Given the description of an element on the screen output the (x, y) to click on. 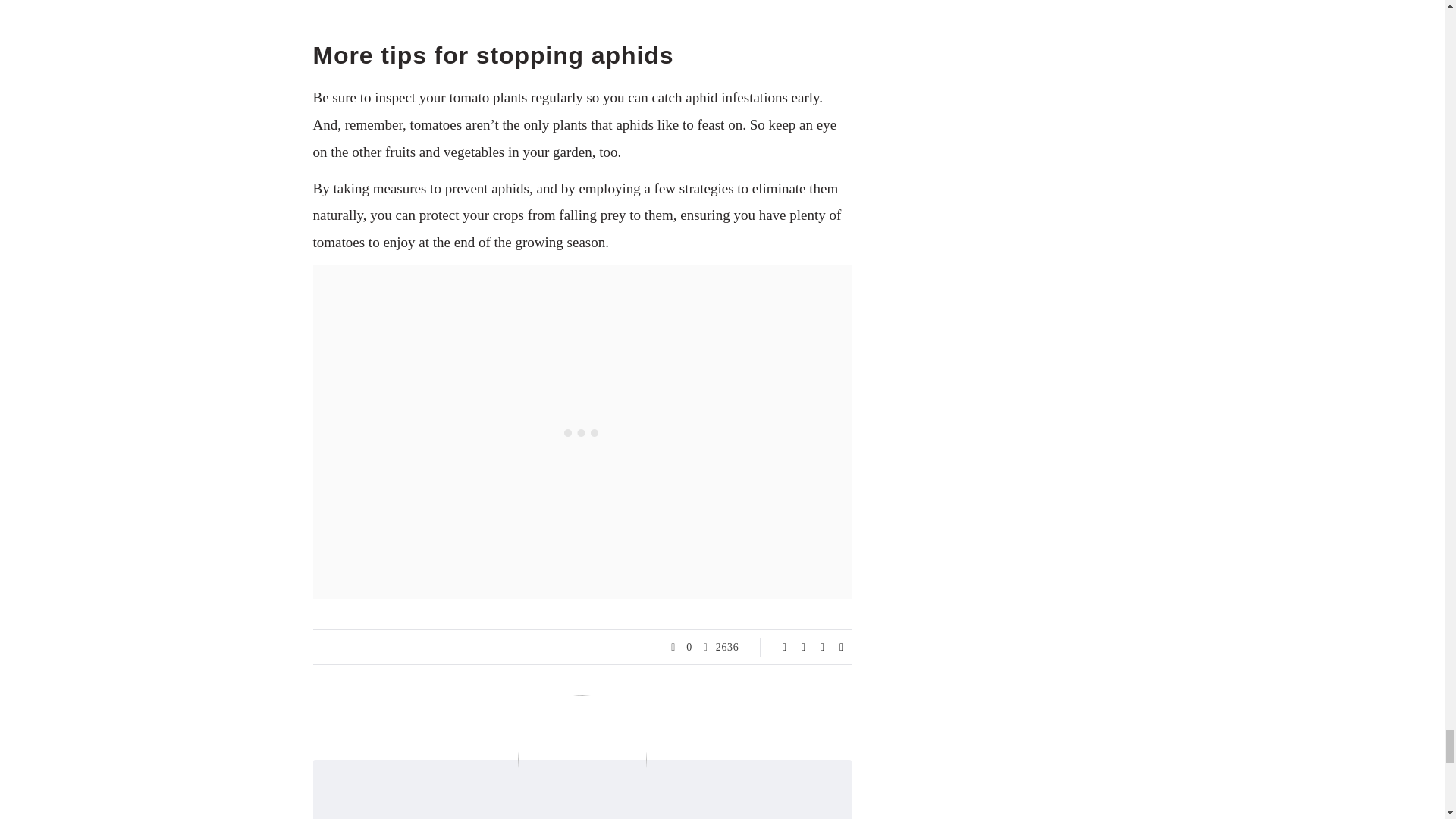
Tweet this (803, 647)
Share with Facebook (783, 647)
Share with Google Plus (821, 647)
Pin this (841, 647)
